Given the description of an element on the screen output the (x, y) to click on. 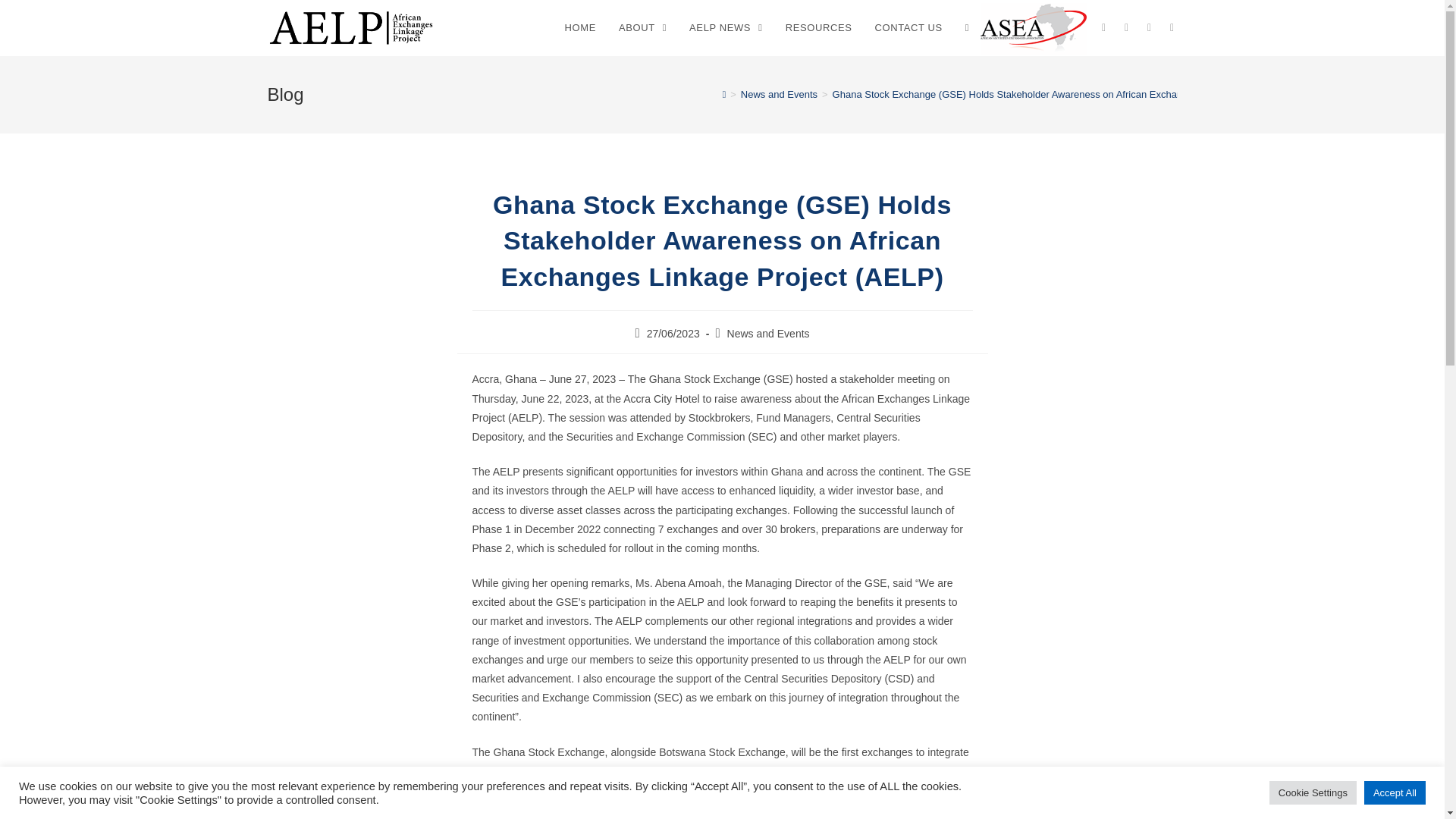
News and Events (767, 333)
News and Events (778, 93)
HOME (580, 28)
ABOUT (642, 28)
CONTACT US (908, 28)
RESOURCES (818, 28)
AELP NEWS (726, 28)
